Given the description of an element on the screen output the (x, y) to click on. 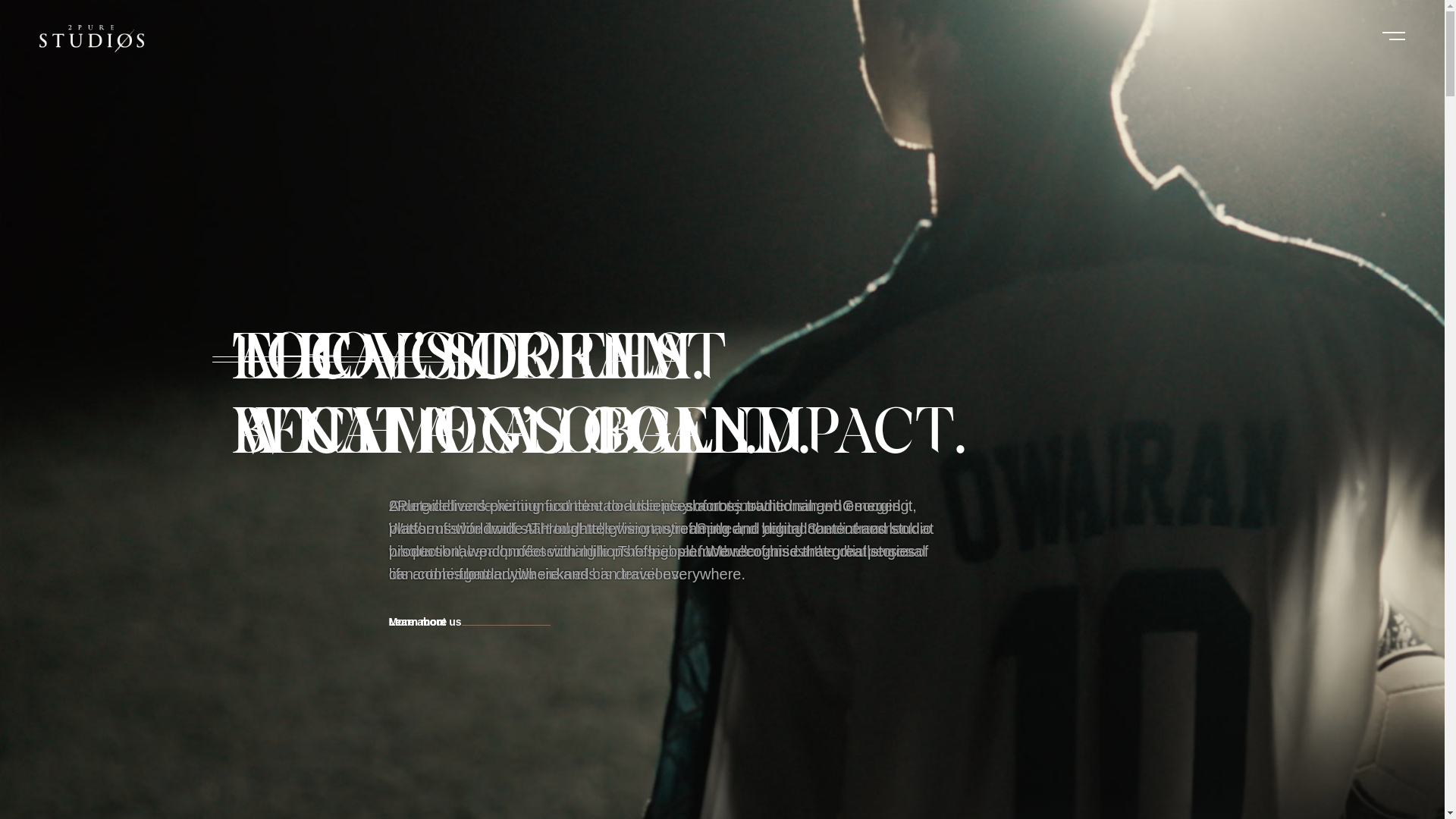
Learn more Element type: text (338, 621)
More about us Element type: text (346, 621)
